Given the description of an element on the screen output the (x, y) to click on. 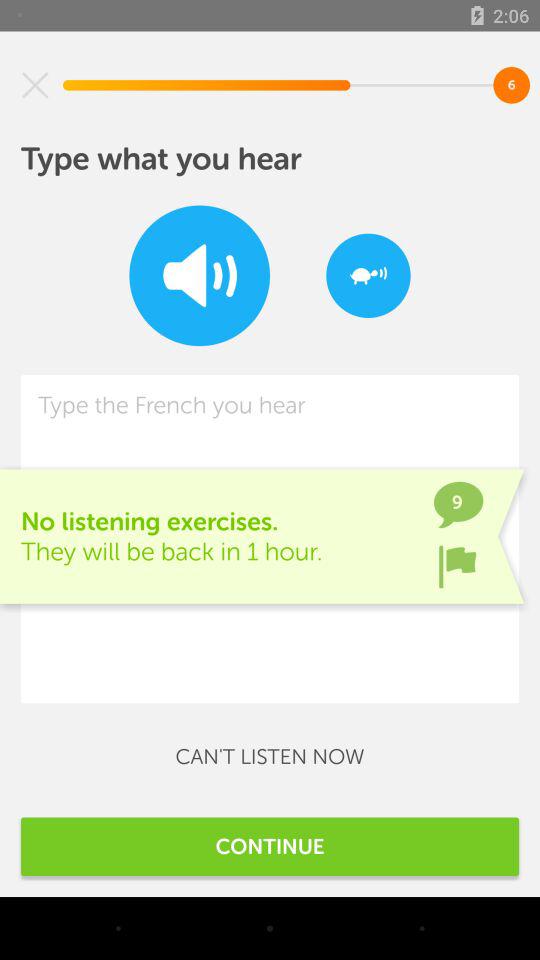
tap the can t listen (270, 756)
